Given the description of an element on the screen output the (x, y) to click on. 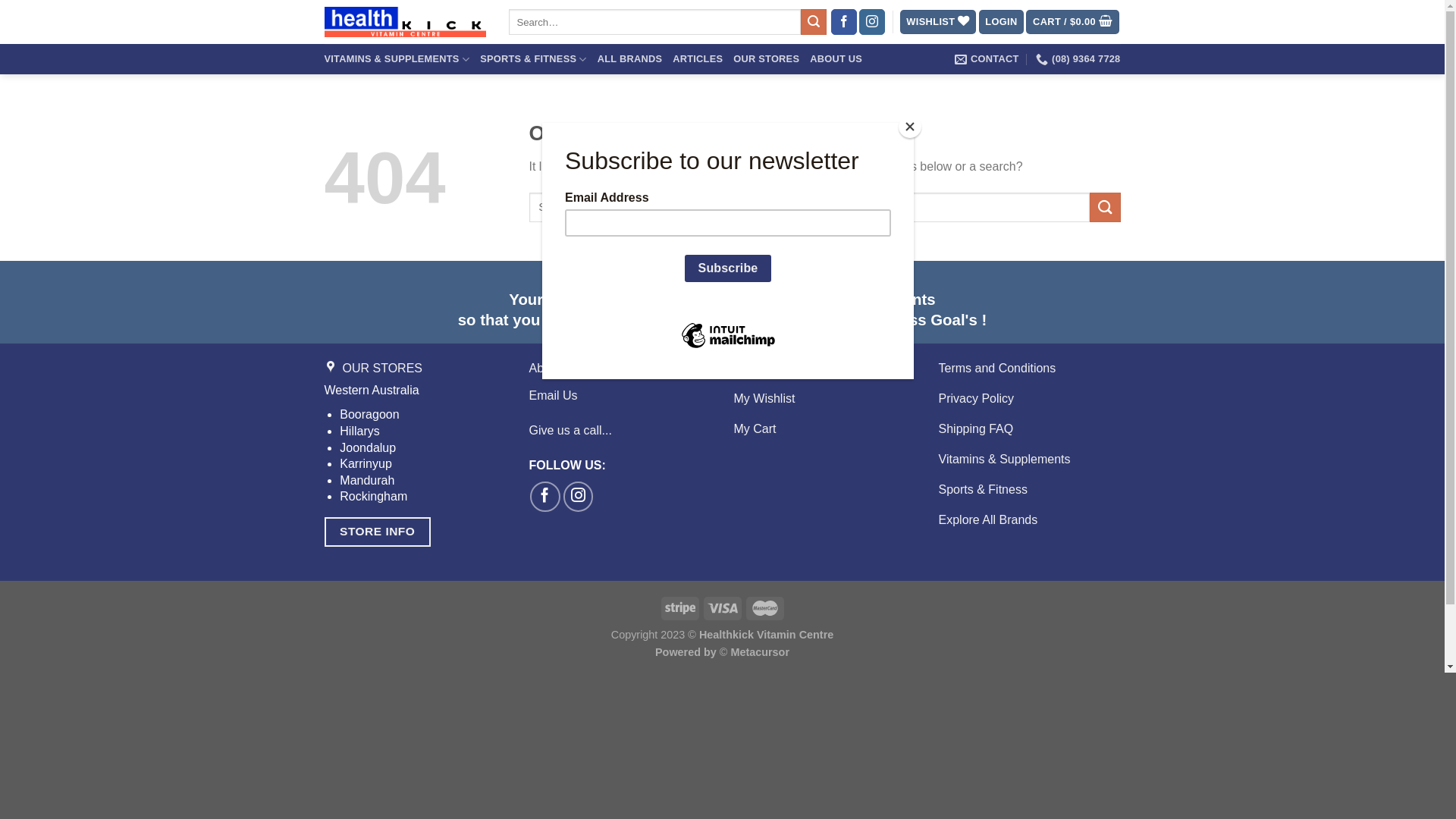
Vitamins & Supplements Element type: text (1029, 461)
VITAMINS & SUPPLEMENTS Element type: text (397, 59)
Explore All Brands Element type: text (1029, 522)
Follow on Instagram Element type: hover (871, 21)
Follow on Facebook Element type: hover (843, 21)
Healthkick Vitamin Centre Element type: hover (405, 21)
Search Element type: text (813, 21)
SPORTS & FITNESS Element type: text (533, 59)
CONTACT Element type: text (986, 58)
OUR STORES Element type: text (415, 370)
My Cart Element type: text (825, 431)
LOGIN Element type: text (1001, 21)
ALL BRANDS Element type: text (629, 58)
OUR STORES Element type: text (766, 58)
My Account Element type: text (825, 370)
STORE INFO Element type: text (377, 531)
WISHLIST Element type: text (938, 21)
Follow on Instagram Element type: hover (578, 496)
CART / $0.00 Element type: text (1072, 21)
Shipping FAQ Element type: text (1029, 431)
ARTICLES Element type: text (697, 58)
Terms and Conditions Element type: text (1029, 370)
My Wishlist Element type: text (825, 400)
ABOUT US Element type: text (835, 58)
Email Us Element type: text (553, 395)
(08) 9364 7728 Element type: text (1077, 58)
About Us Element type: text (620, 370)
Give us a call... Element type: text (570, 429)
Sports & Fitness Element type: text (1029, 491)
Privacy Policy Element type: text (1029, 400)
Follow on Facebook Element type: hover (545, 496)
